Given the description of an element on the screen output the (x, y) to click on. 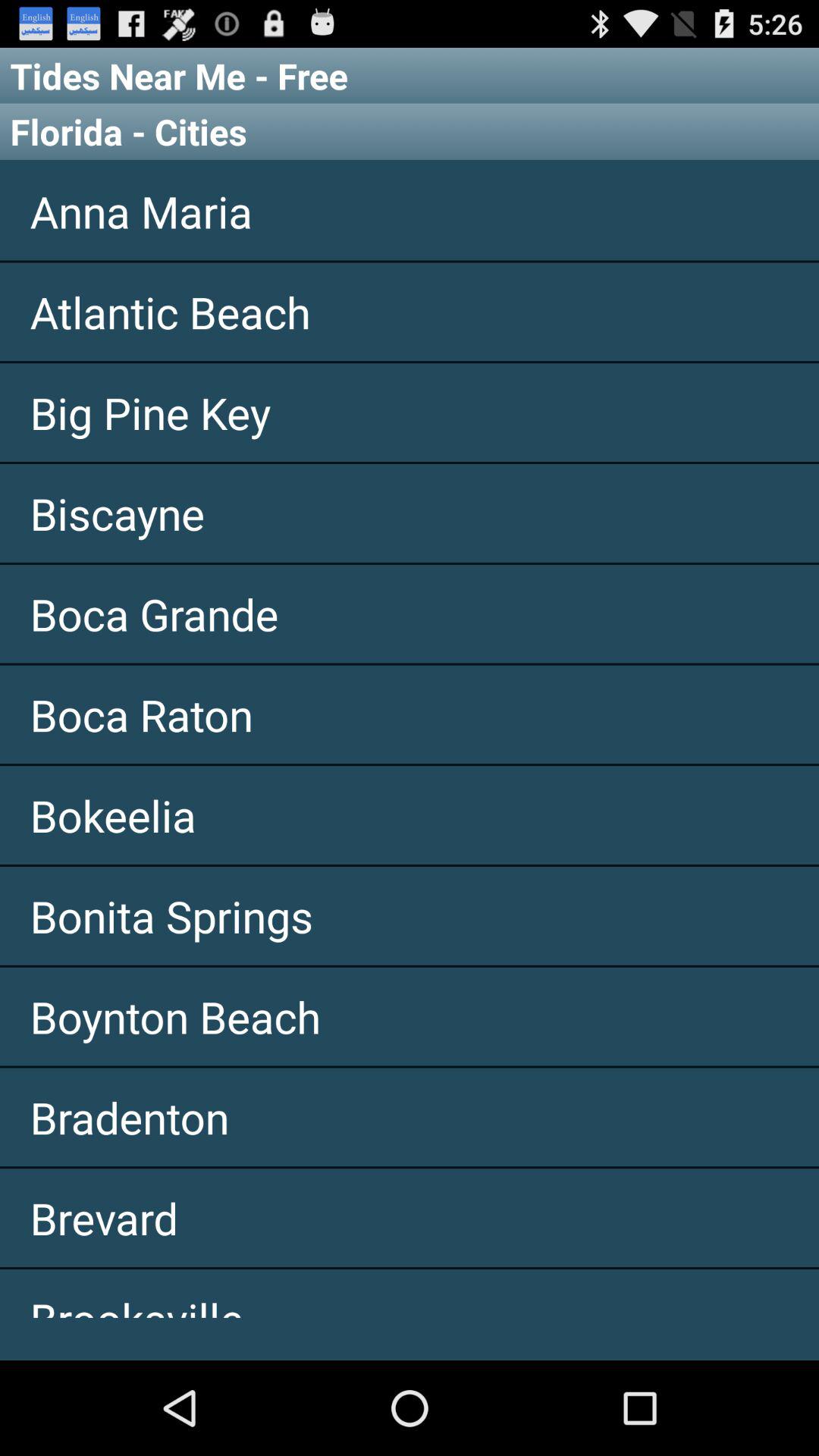
press icon below anna maria app (409, 311)
